Given the description of an element on the screen output the (x, y) to click on. 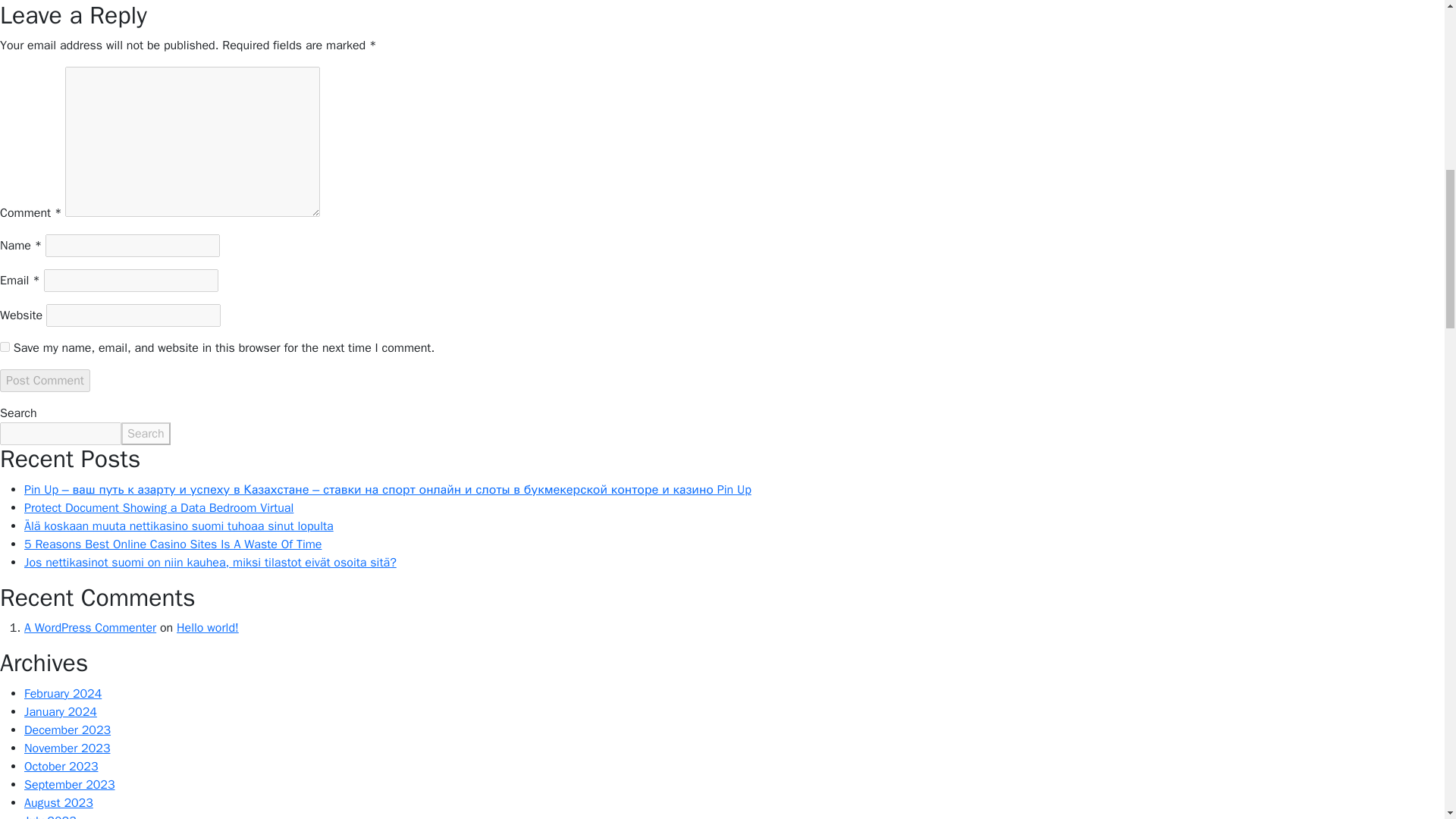
yes (5, 347)
July 2023 (50, 816)
Hello world! (207, 627)
November 2023 (67, 748)
September 2023 (69, 784)
Post Comment (45, 380)
August 2023 (58, 802)
Protect Document Showing a Data Bedroom Virtual (159, 507)
February 2024 (62, 693)
A WordPress Commenter (89, 627)
Search (145, 433)
January 2024 (60, 711)
Post Comment (45, 380)
5 Reasons Best Online Casino Sites Is A Waste Of Time (172, 544)
December 2023 (67, 729)
